Given the description of an element on the screen output the (x, y) to click on. 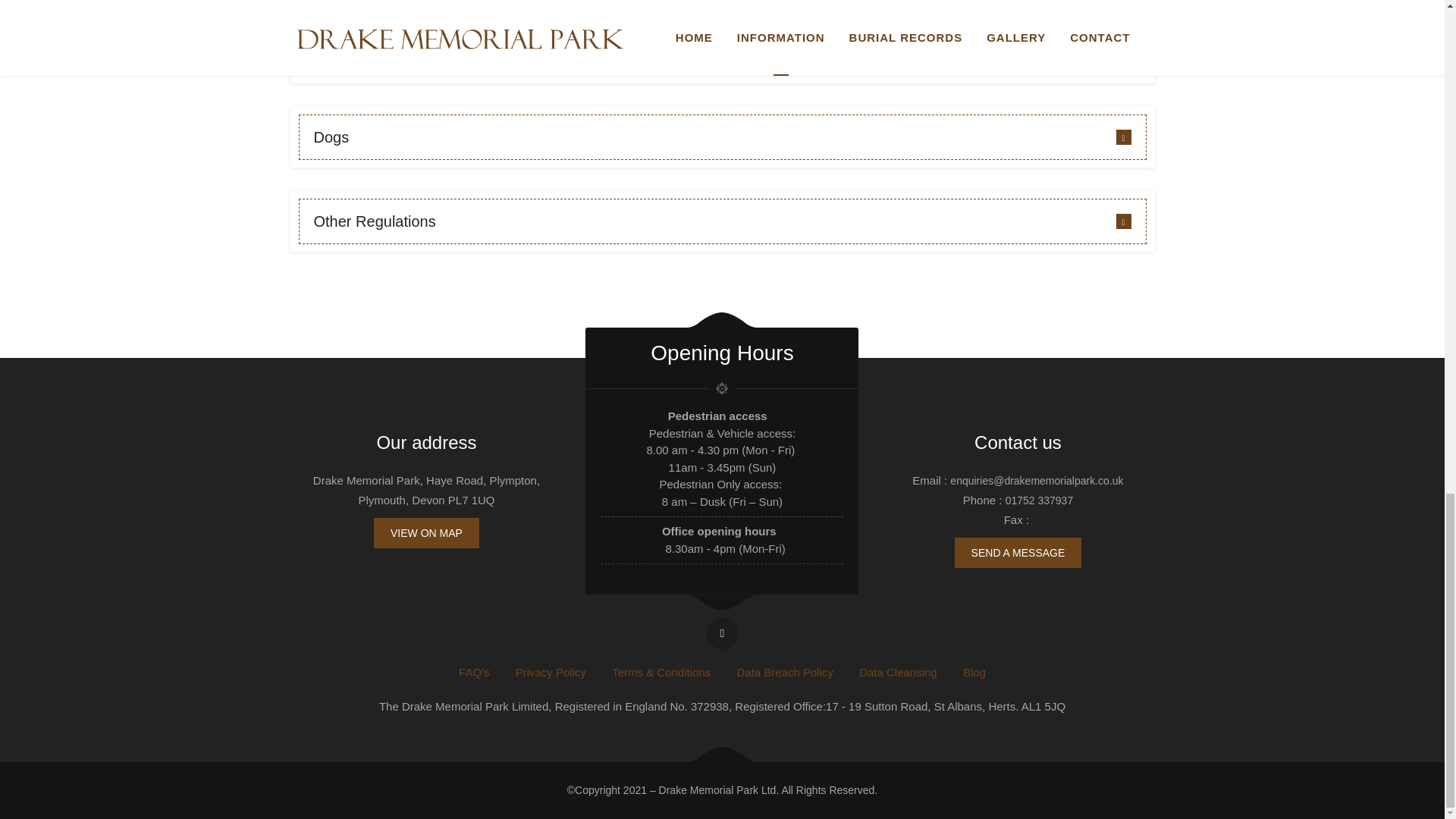
VIEW ON MAP (426, 532)
01752 337937 (1040, 500)
Dogs (722, 136)
FAQ's (473, 671)
SEND A MESSAGE (1018, 552)
Winter Conditions (722, 52)
Other Regulations (722, 221)
